Given the description of an element on the screen output the (x, y) to click on. 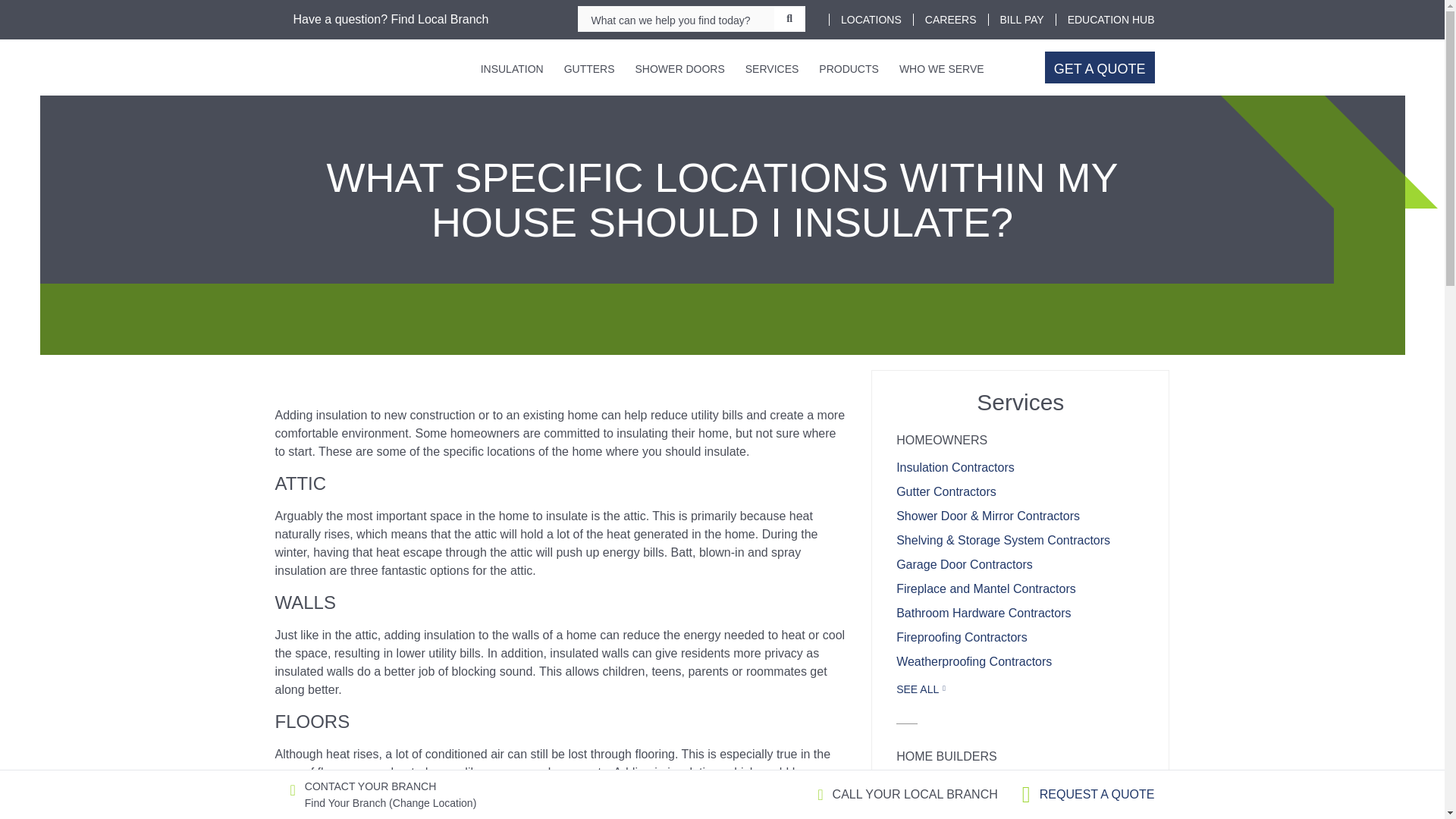
Find Local Branch (438, 19)
BILL PAY (1021, 19)
INSULATION (516, 67)
EDUCATION HUB (1110, 19)
SHOWER DOORS (683, 67)
LOCATIONS (871, 19)
GUTTERS (594, 67)
CAREERS (950, 19)
